Given the description of an element on the screen output the (x, y) to click on. 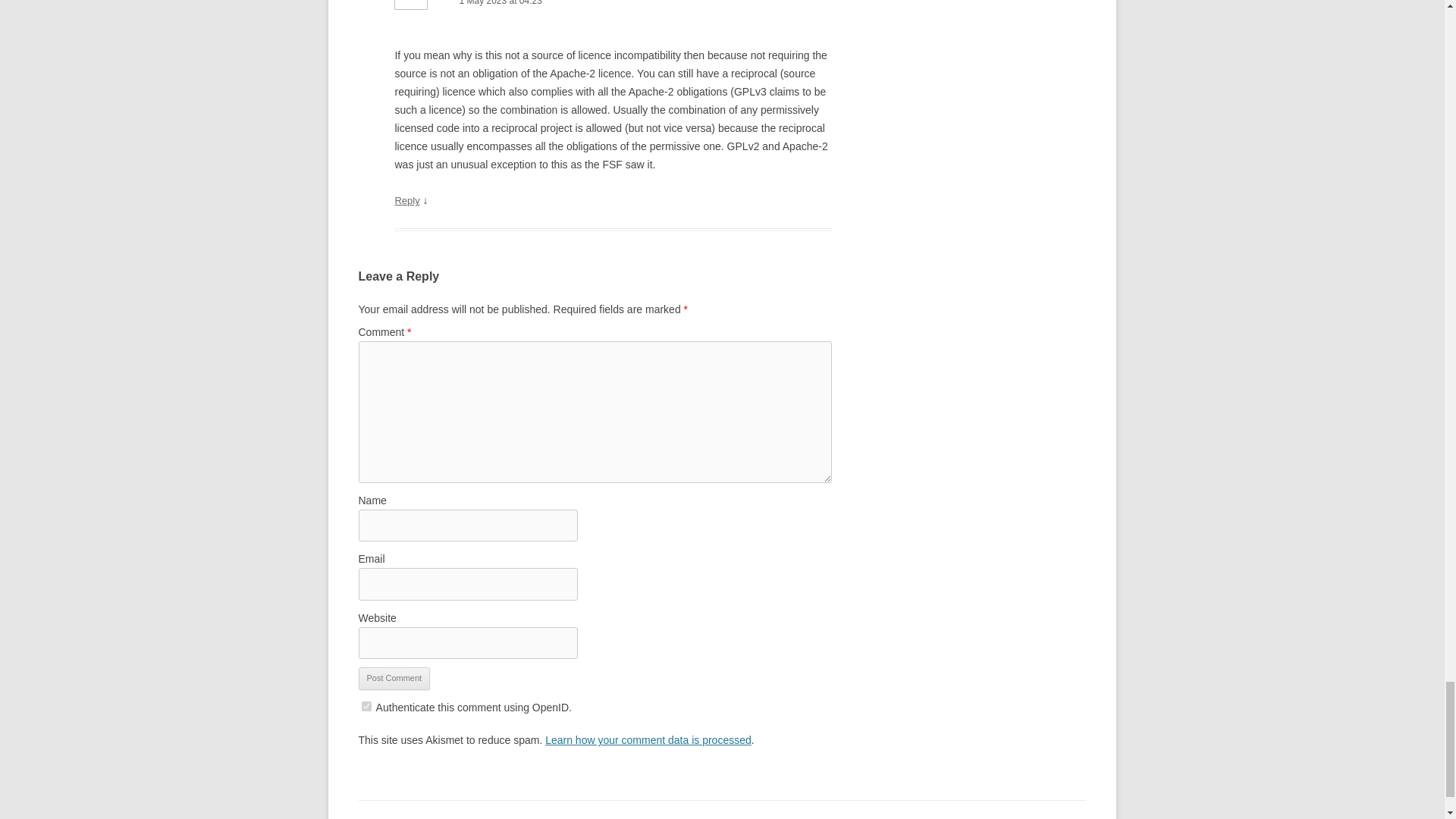
Post Comment (393, 678)
on (366, 706)
1 May 2023 at 04:23 (612, 4)
